Given the description of an element on the screen output the (x, y) to click on. 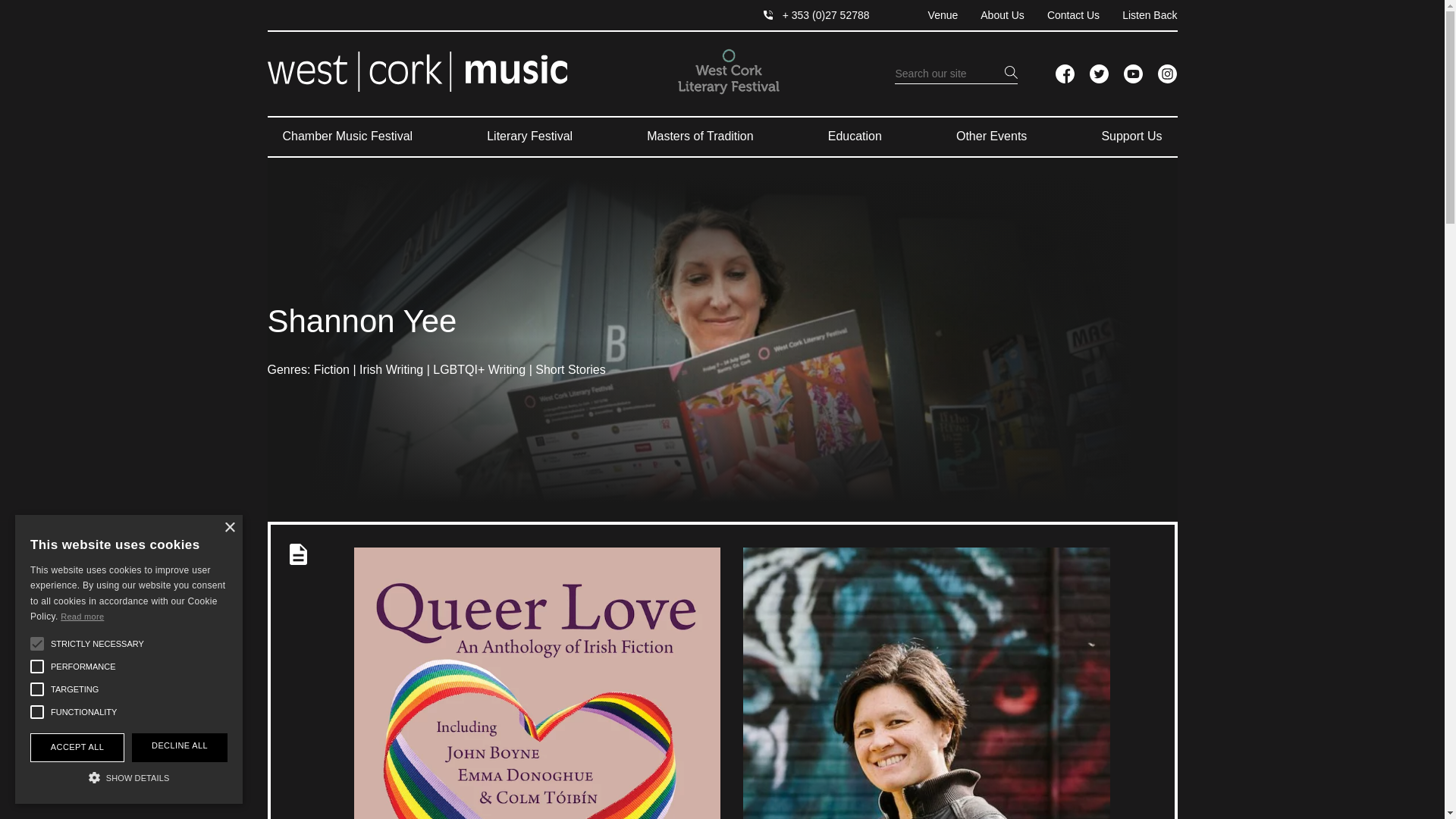
Contact Us (1062, 15)
West Cork Music (416, 71)
West Cork Music on instagram (1166, 73)
Literary Festival (529, 136)
Queer Love cover web (536, 683)
About Us (991, 15)
West Cork Music on twitter (1098, 73)
West Cork Music on facebook (1064, 73)
Phone number (815, 15)
Shannon Yee (925, 683)
West Cork Music (416, 73)
Chamber Music Festival (347, 136)
Venue (931, 15)
Listen Back (1137, 15)
Festival logo (728, 71)
